Given the description of an element on the screen output the (x, y) to click on. 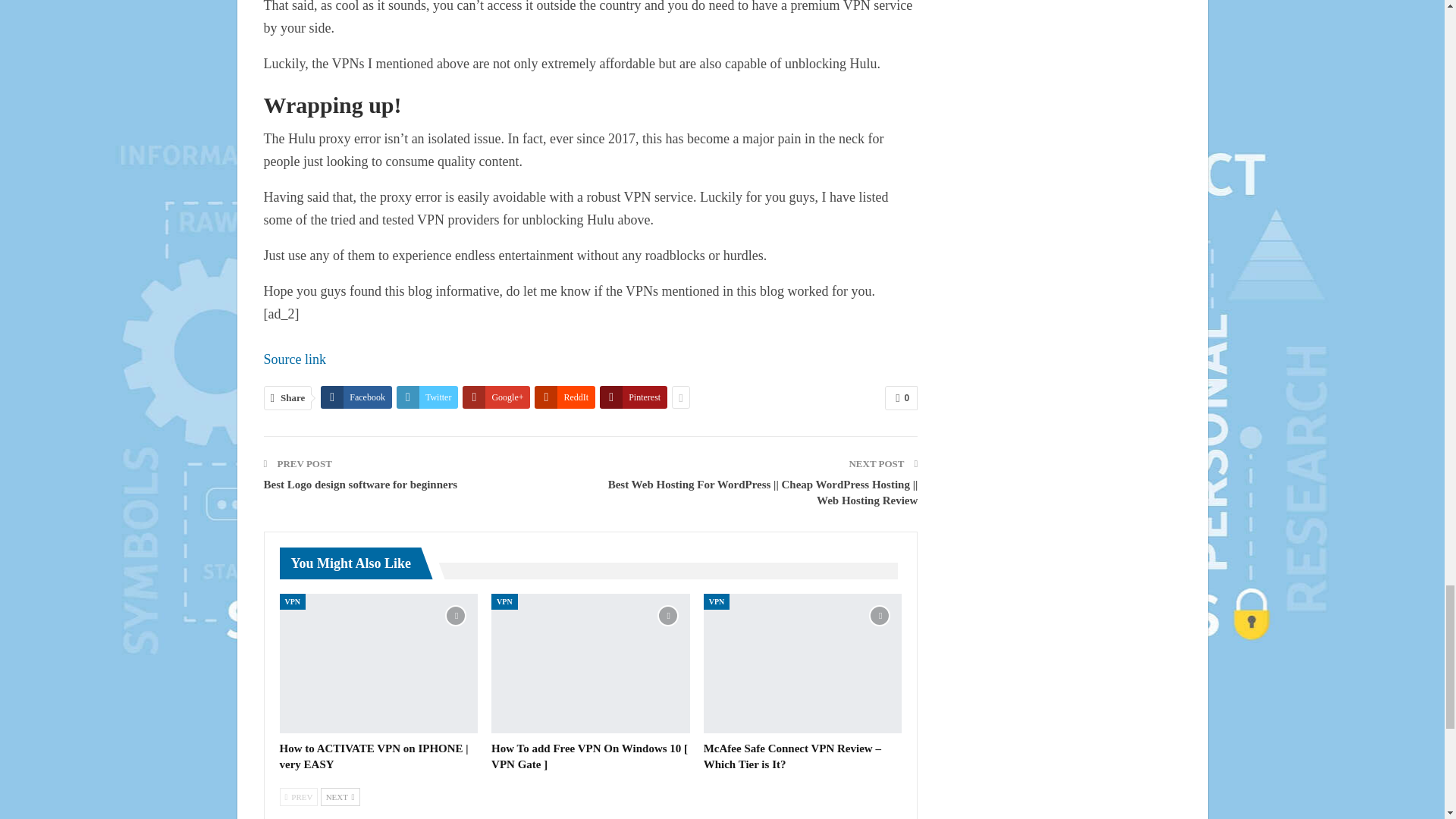
Source link (294, 359)
0 (901, 397)
Previous (298, 796)
Pinterest (632, 396)
ReddIt (564, 396)
Twitter (427, 396)
Best Logo design software for beginners (360, 484)
Facebook (355, 396)
Next (339, 796)
VPN (292, 601)
